Given the description of an element on the screen output the (x, y) to click on. 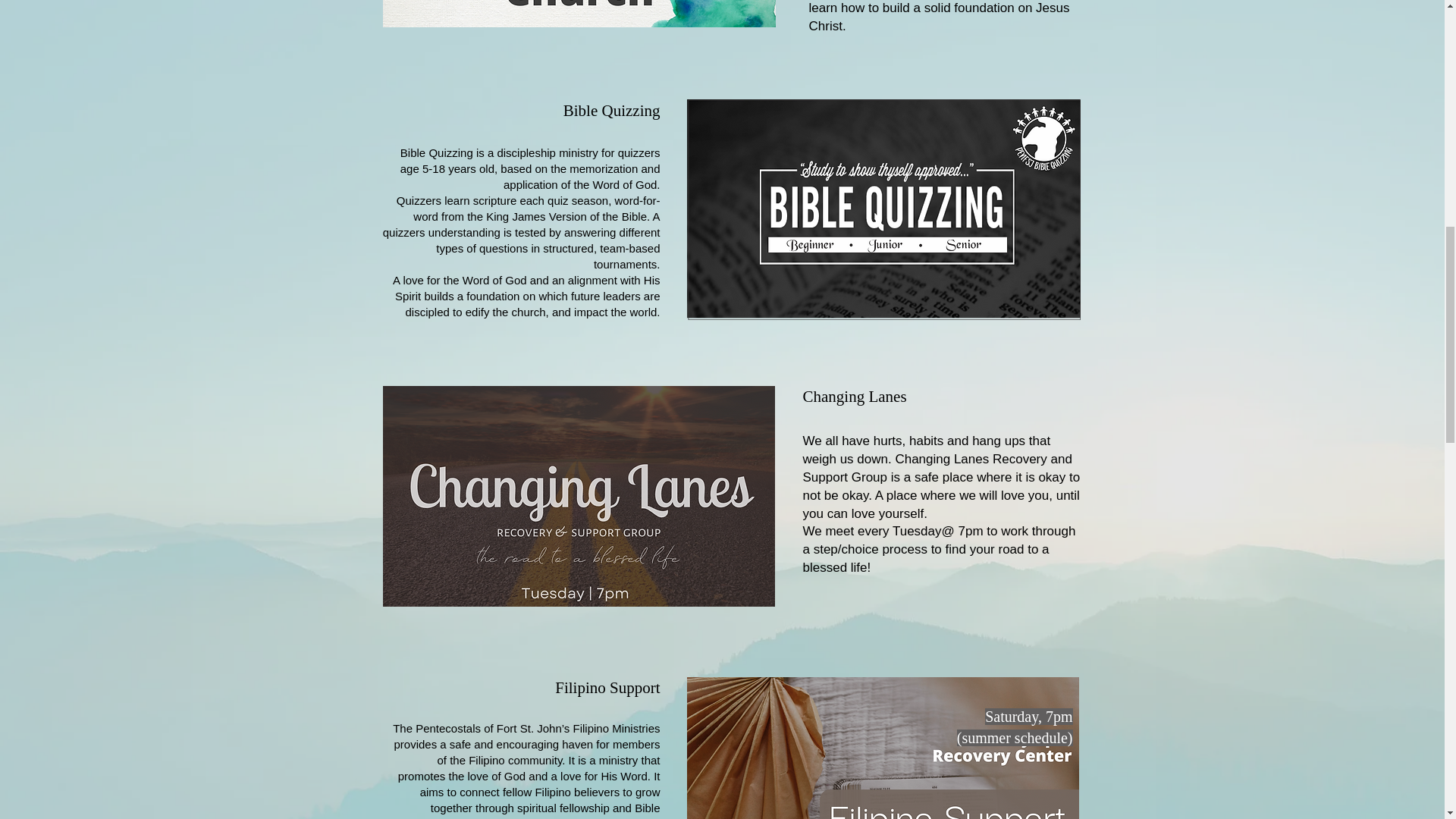
Filipino Support (606, 687)
Bible Quizzing (612, 110)
Changing Lanes (853, 396)
